Given the description of an element on the screen output the (x, y) to click on. 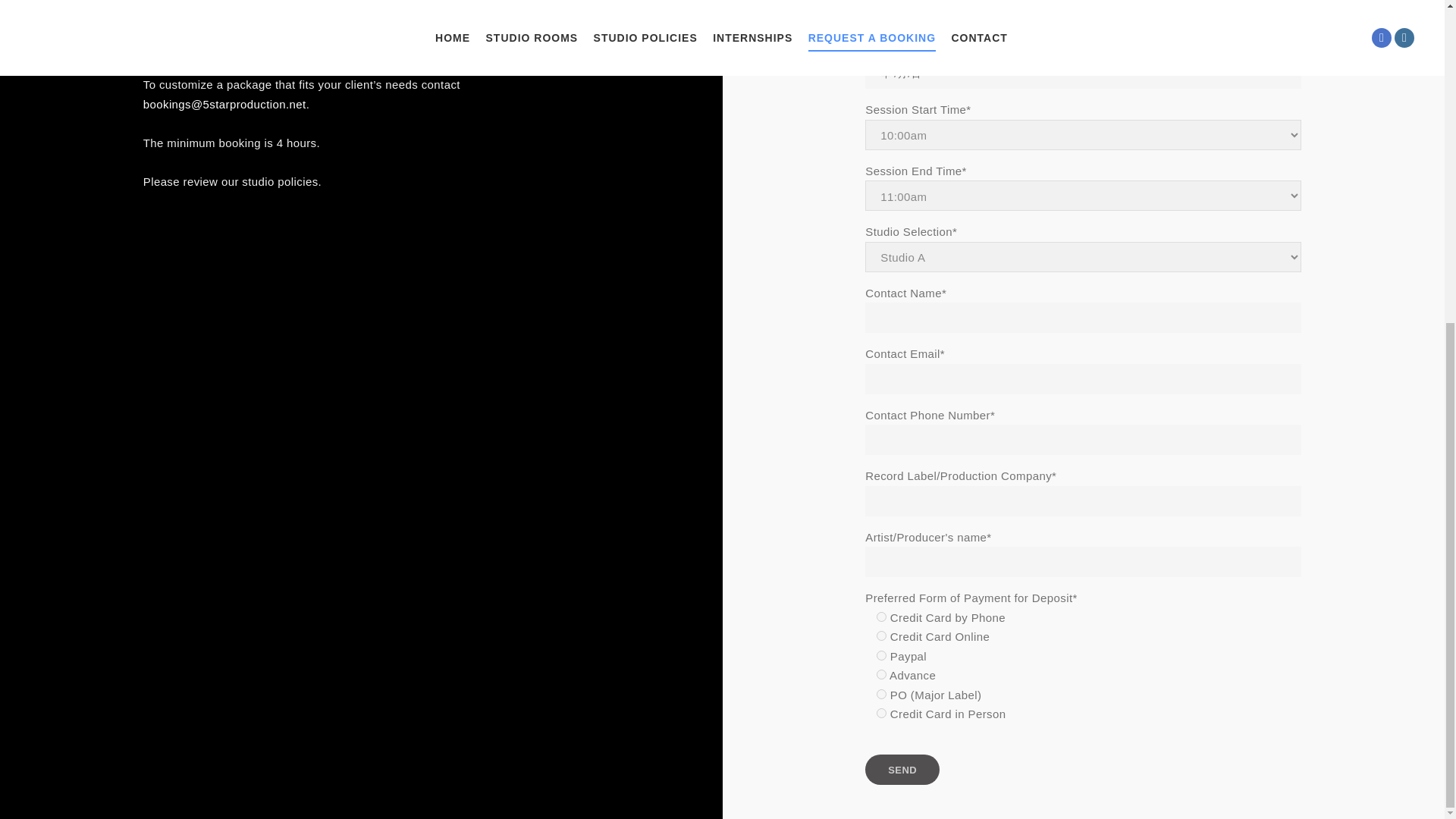
Paypal (881, 655)
Credit Card by Phone (881, 616)
Send (901, 769)
Credit Card in Person (881, 713)
Send (901, 769)
Credit Card Online (881, 635)
Advance (881, 674)
